Given the description of an element on the screen output the (x, y) to click on. 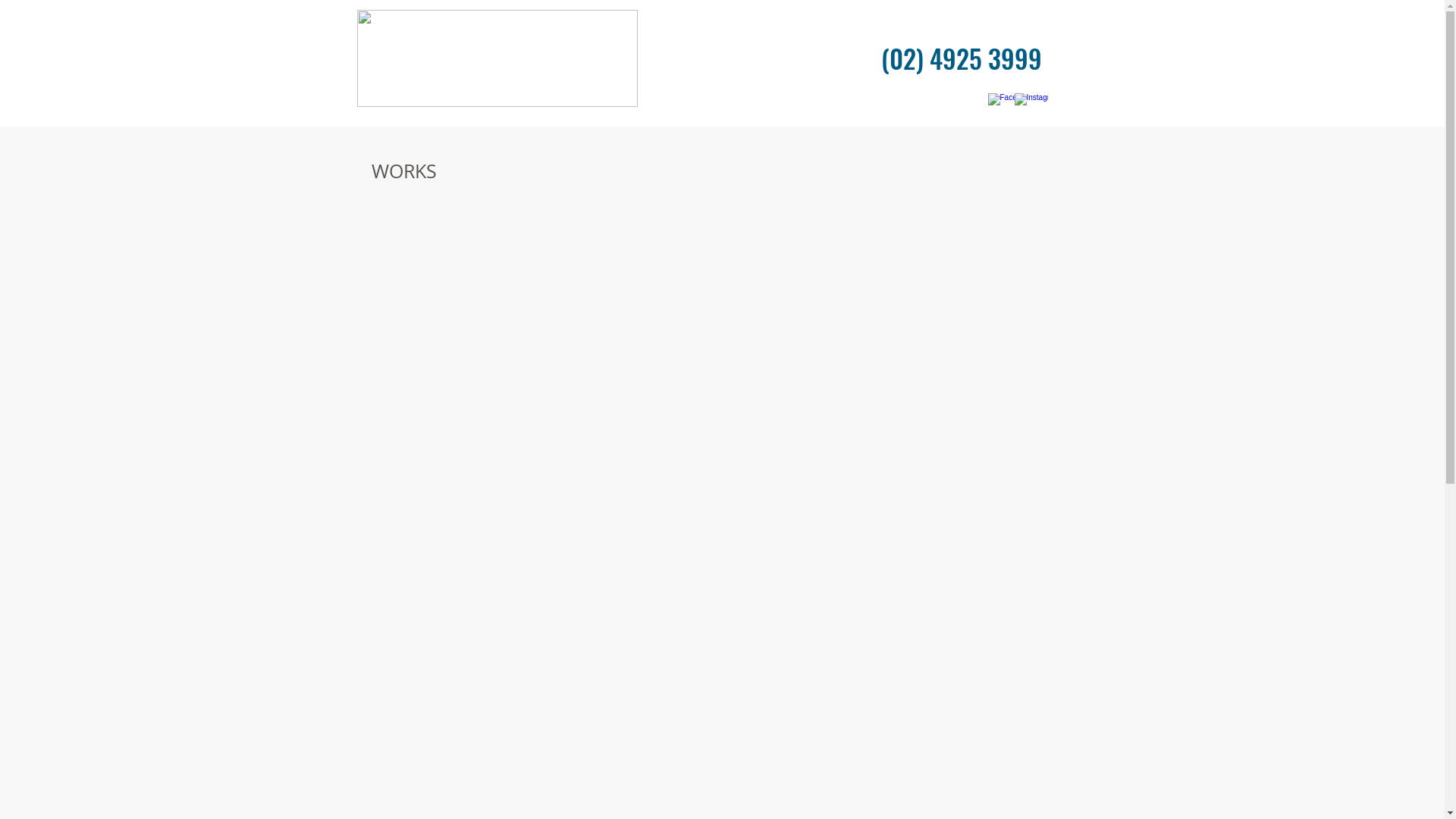
High Res.png Element type: hover (496, 57)
